Given the description of an element on the screen output the (x, y) to click on. 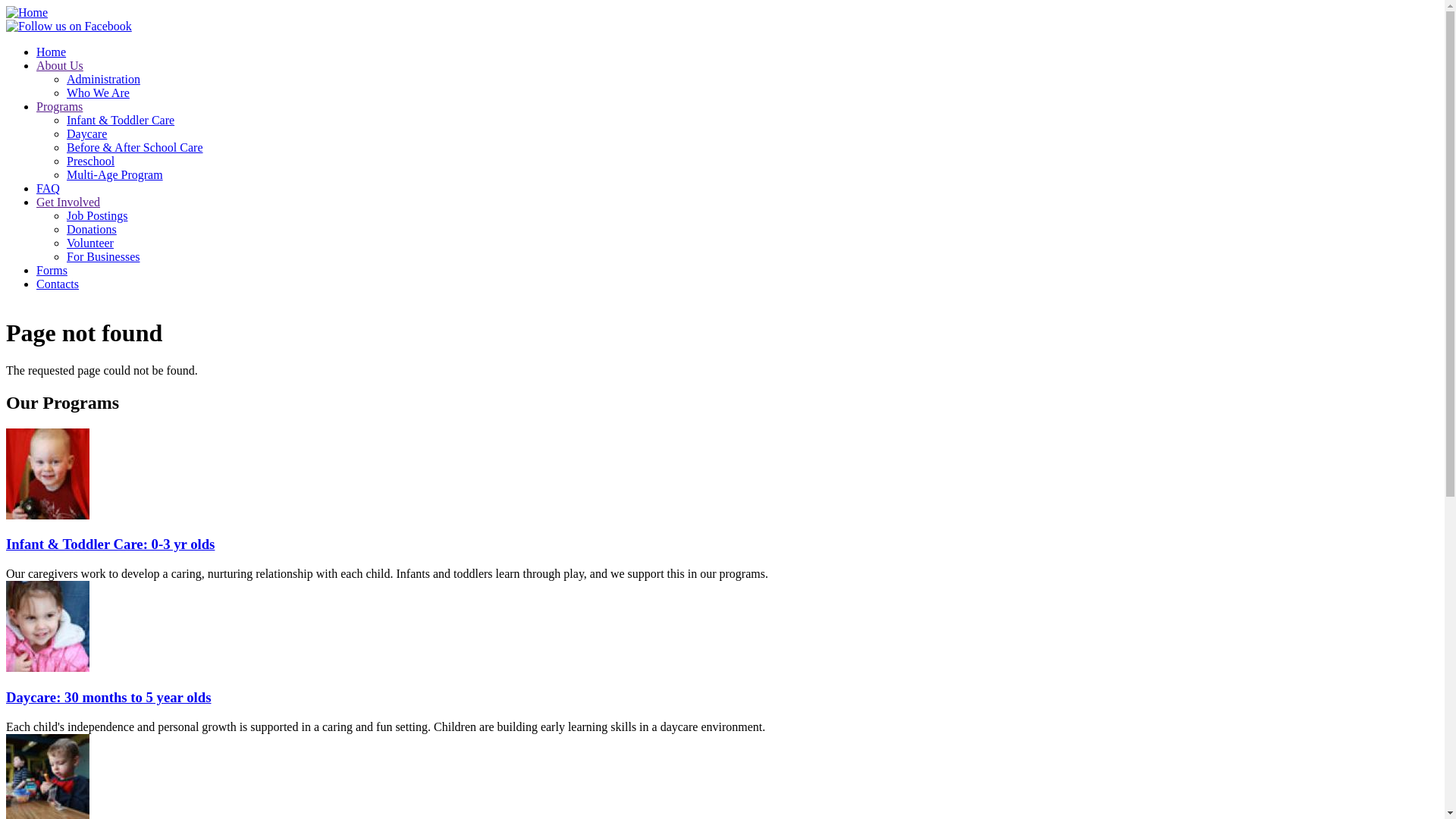
Get Involved Element type: text (68, 201)
Administration Element type: text (103, 78)
For Businesses Element type: text (102, 256)
Before & After School Care Element type: text (134, 147)
Home Element type: text (50, 51)
Job Postings Element type: text (96, 215)
Who We Are Element type: text (97, 92)
Contacts Element type: text (57, 283)
Daycare: 30 months to 5 year olds Element type: text (108, 697)
Preschool Element type: text (90, 160)
Infant & Toddler Care Element type: text (120, 119)
FAQ Element type: text (47, 188)
Infant & Toddler Care: 0-3 yr olds Element type: text (110, 544)
Daycare Element type: text (86, 133)
Multi-Age Program Element type: text (114, 174)
Programs Element type: text (59, 106)
About Us Element type: text (59, 65)
Follow link to follow us on Facebook Element type: hover (68, 26)
Donations Element type: text (91, 228)
Forms Element type: text (51, 269)
Volunteer Element type: text (89, 242)
Skip to main content Element type: text (6, 6)
Home Element type: hover (26, 12)
